Given the description of an element on the screen output the (x, y) to click on. 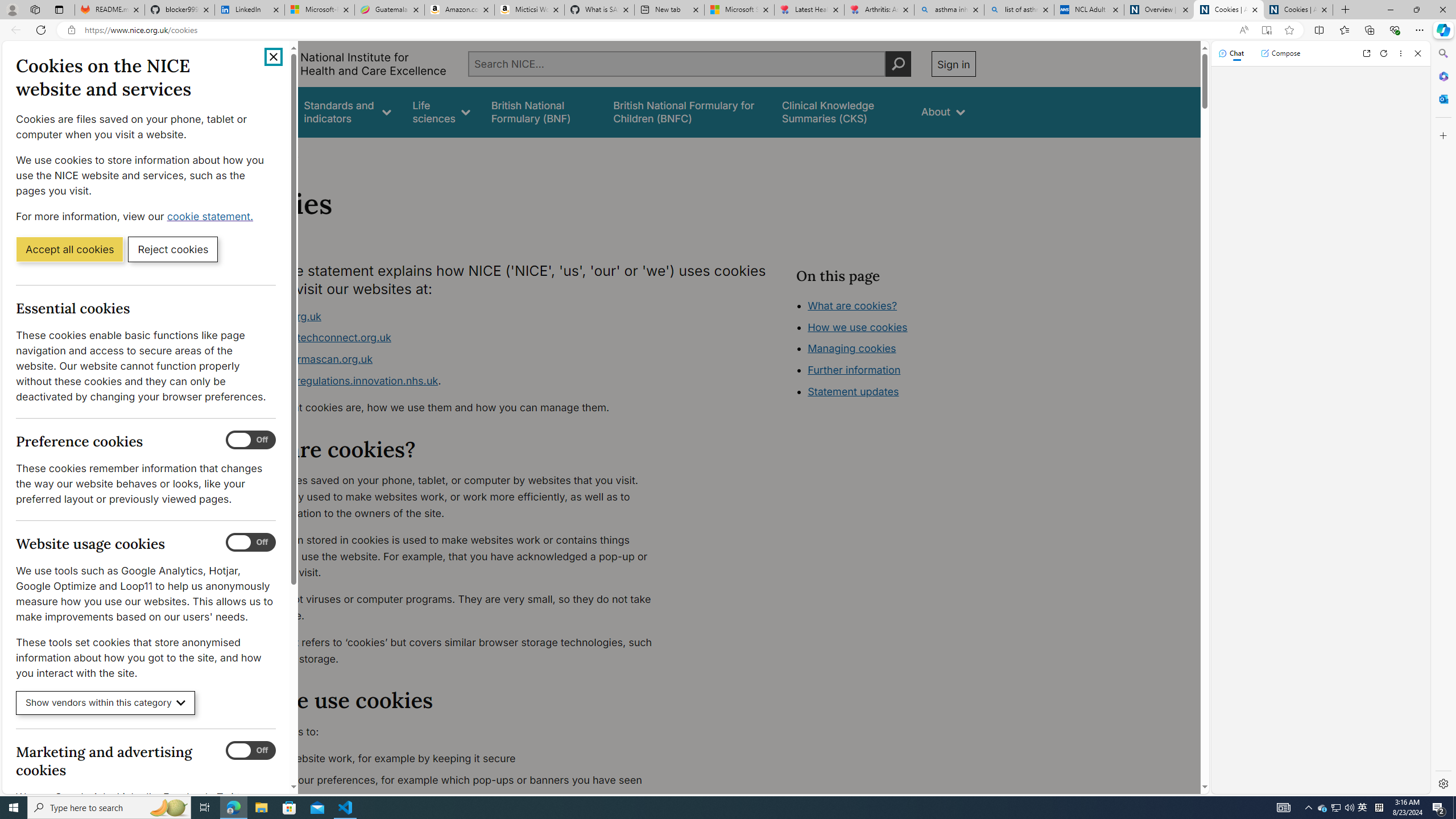
British National Formulary for Children (BNFC) (686, 111)
Perform search (898, 63)
www.ukpharmascan.org.uk (452, 359)
www.nice.org.uk (279, 315)
www.healthtechconnect.org.uk (452, 338)
Further information (854, 369)
Preference cookies (250, 439)
